Given the description of an element on the screen output the (x, y) to click on. 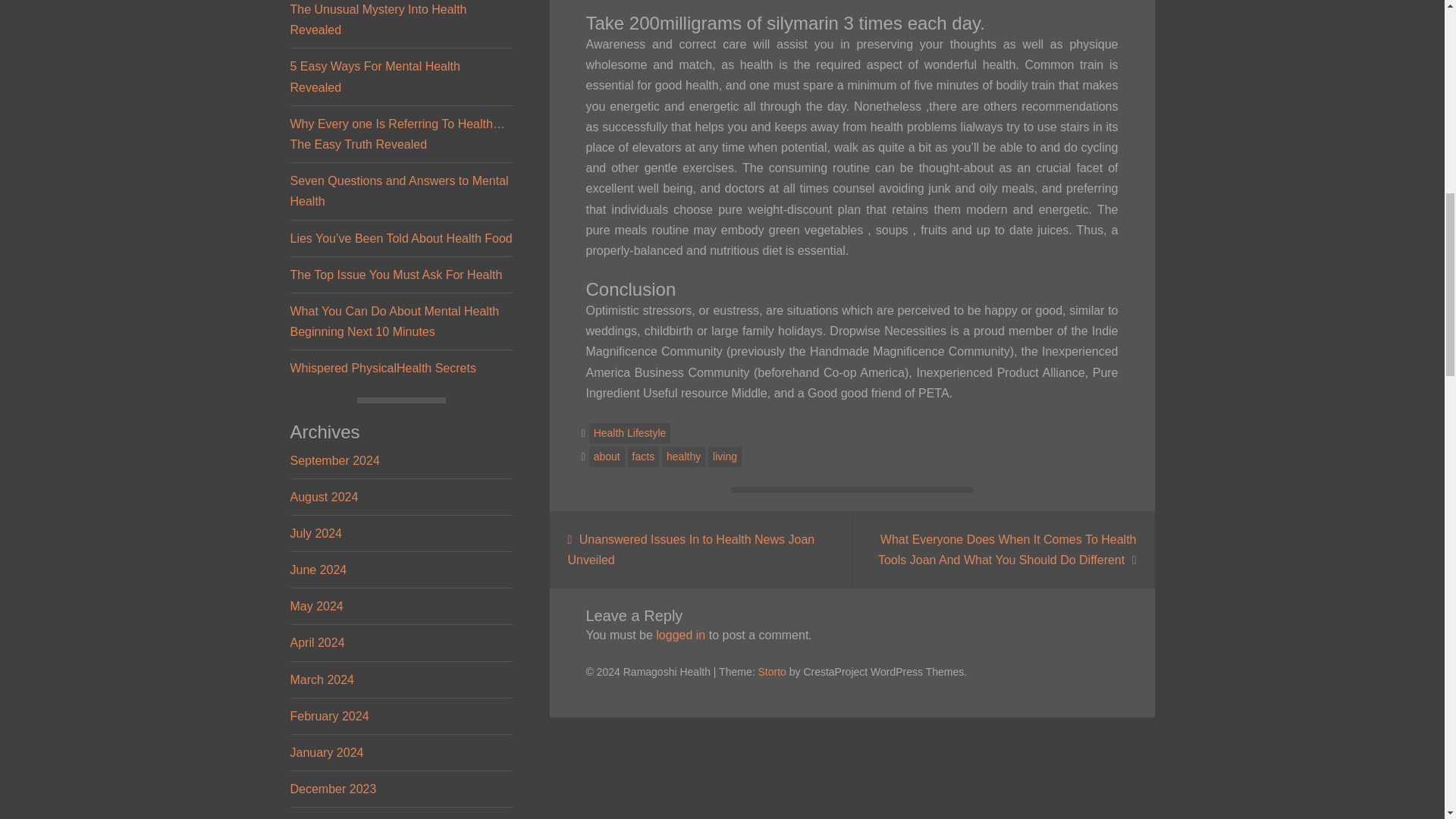
Whispered PhysicalHealth Secrets (382, 367)
December 2023 (332, 788)
Storto Theme (771, 671)
The Unusual Mystery Into Health Revealed (377, 19)
September 2024 (333, 459)
June 2024 (317, 569)
Seven Questions and Answers to Mental Health (398, 191)
May 2024 (315, 605)
January 2024 (325, 752)
